Given the description of an element on the screen output the (x, y) to click on. 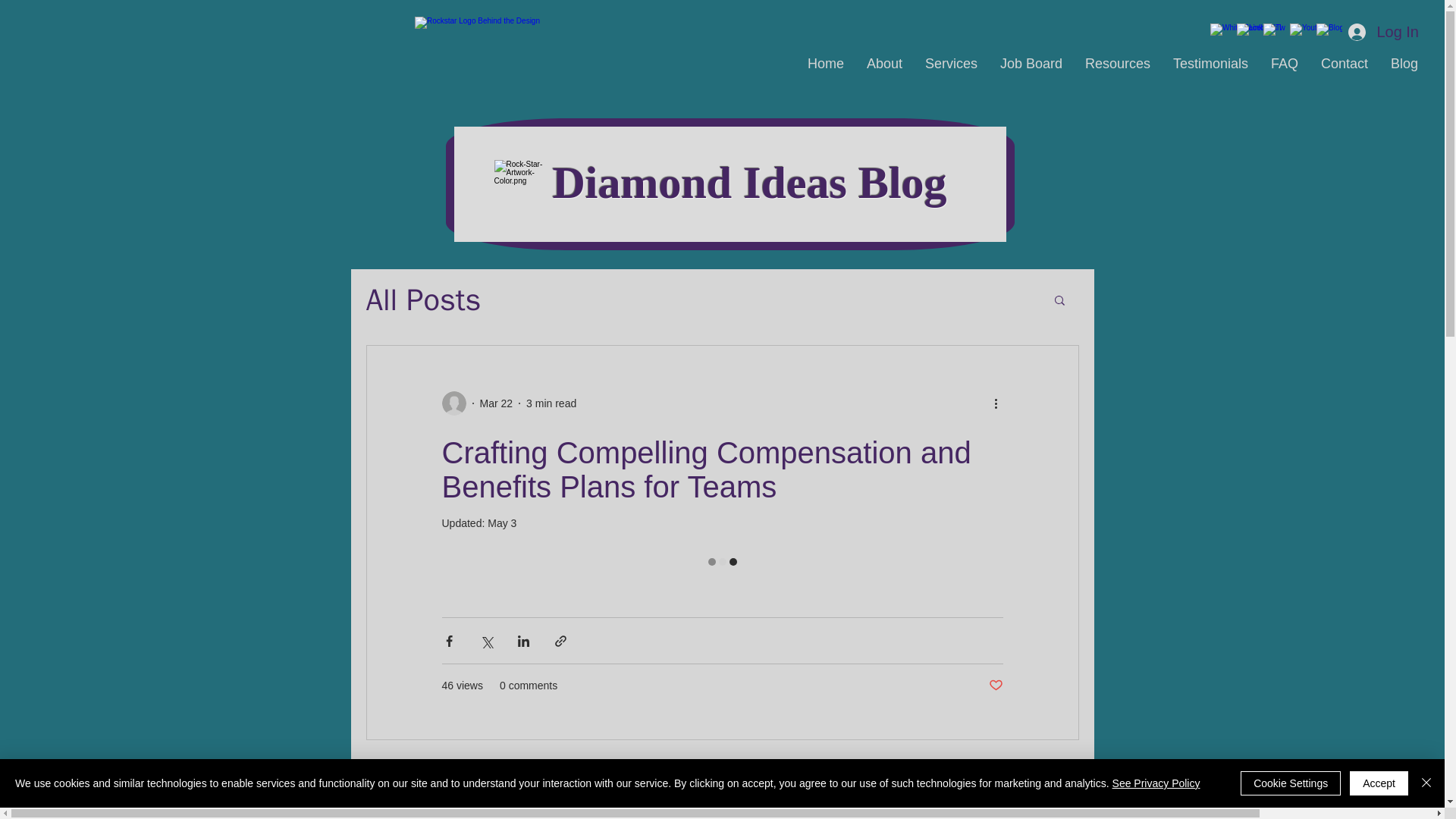
Testimonials (1210, 64)
Services (951, 64)
See All (1061, 768)
FAQ (1283, 64)
May 3 (501, 522)
Post not marked as liked (995, 685)
Contact (1343, 64)
Log In (1383, 31)
Behind the Design Logo (552, 41)
Home (826, 64)
Mar 22 (495, 403)
Blog (1403, 64)
All Posts (422, 300)
Resources (1117, 64)
About (885, 64)
